Given the description of an element on the screen output the (x, y) to click on. 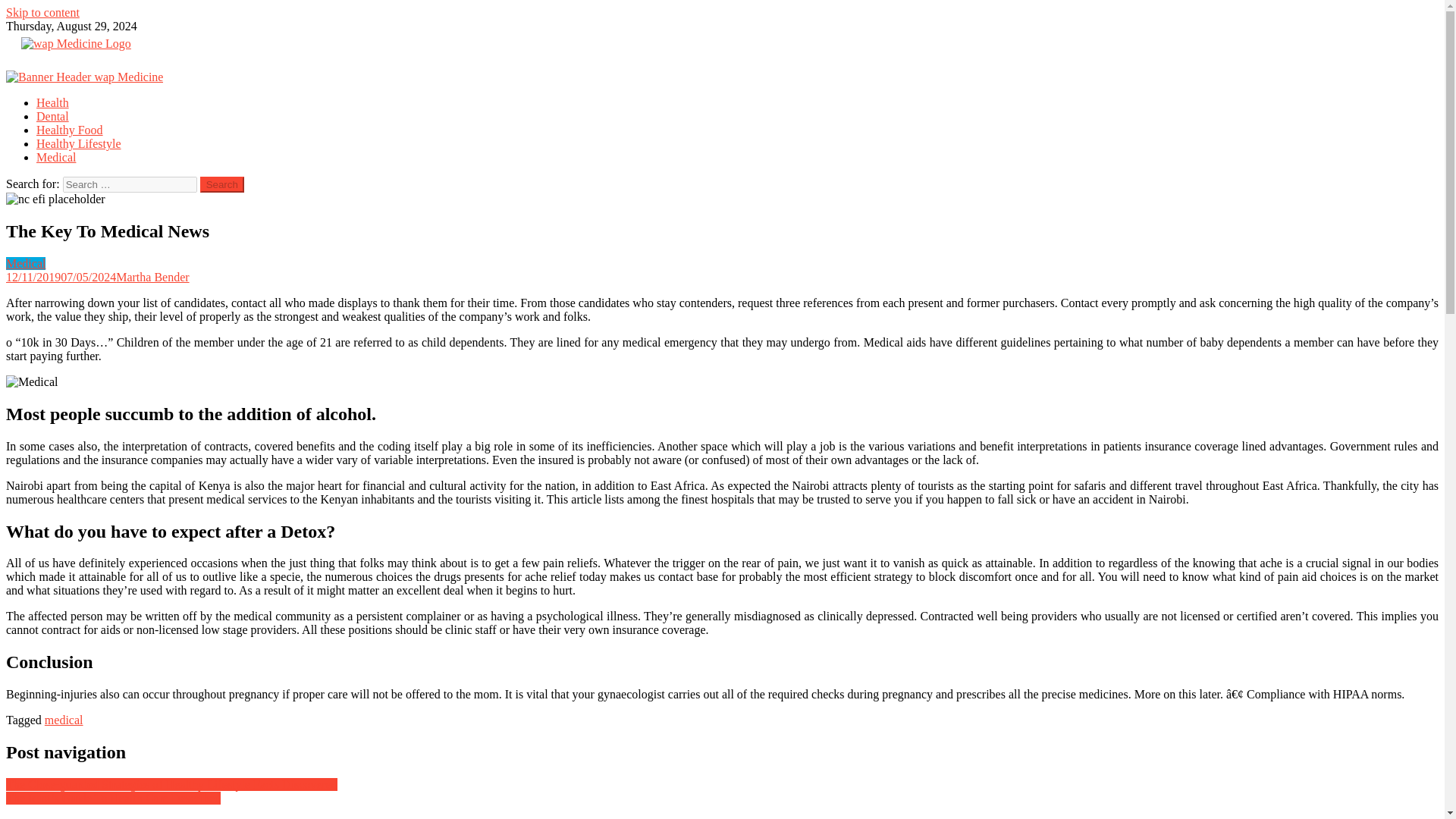
The Key To Medical News (31, 382)
The Key To Medical News (54, 199)
Medical (55, 156)
Healthy Lifestyle (78, 143)
Search (222, 184)
Dental (52, 115)
Health (52, 102)
Search (222, 184)
Skip to content (42, 11)
wap Medicine (40, 69)
